Given the description of an element on the screen output the (x, y) to click on. 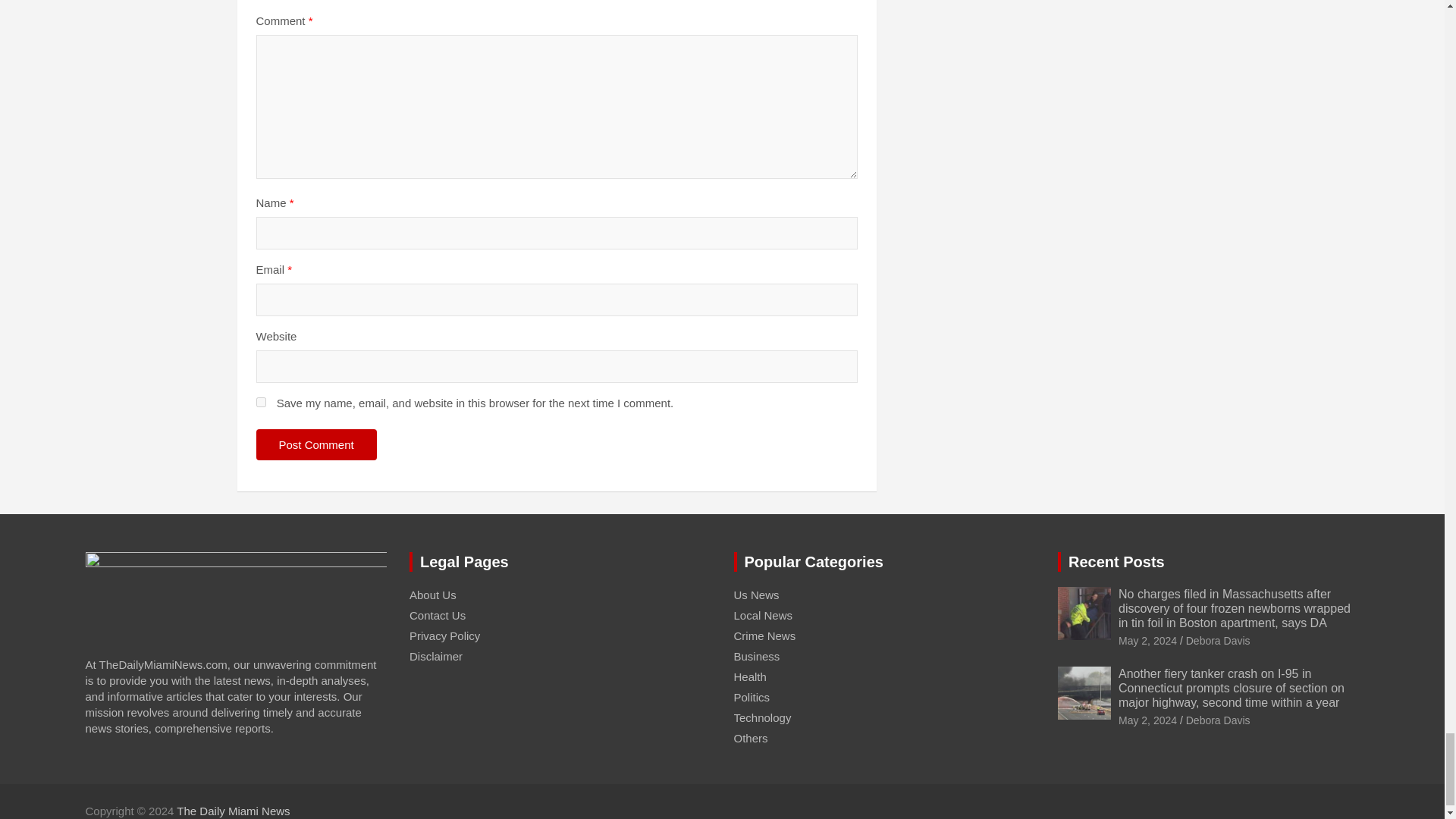
yes (261, 402)
The Daily Miami News (232, 810)
Post Comment (316, 444)
Post Comment (316, 444)
